Given the description of an element on the screen output the (x, y) to click on. 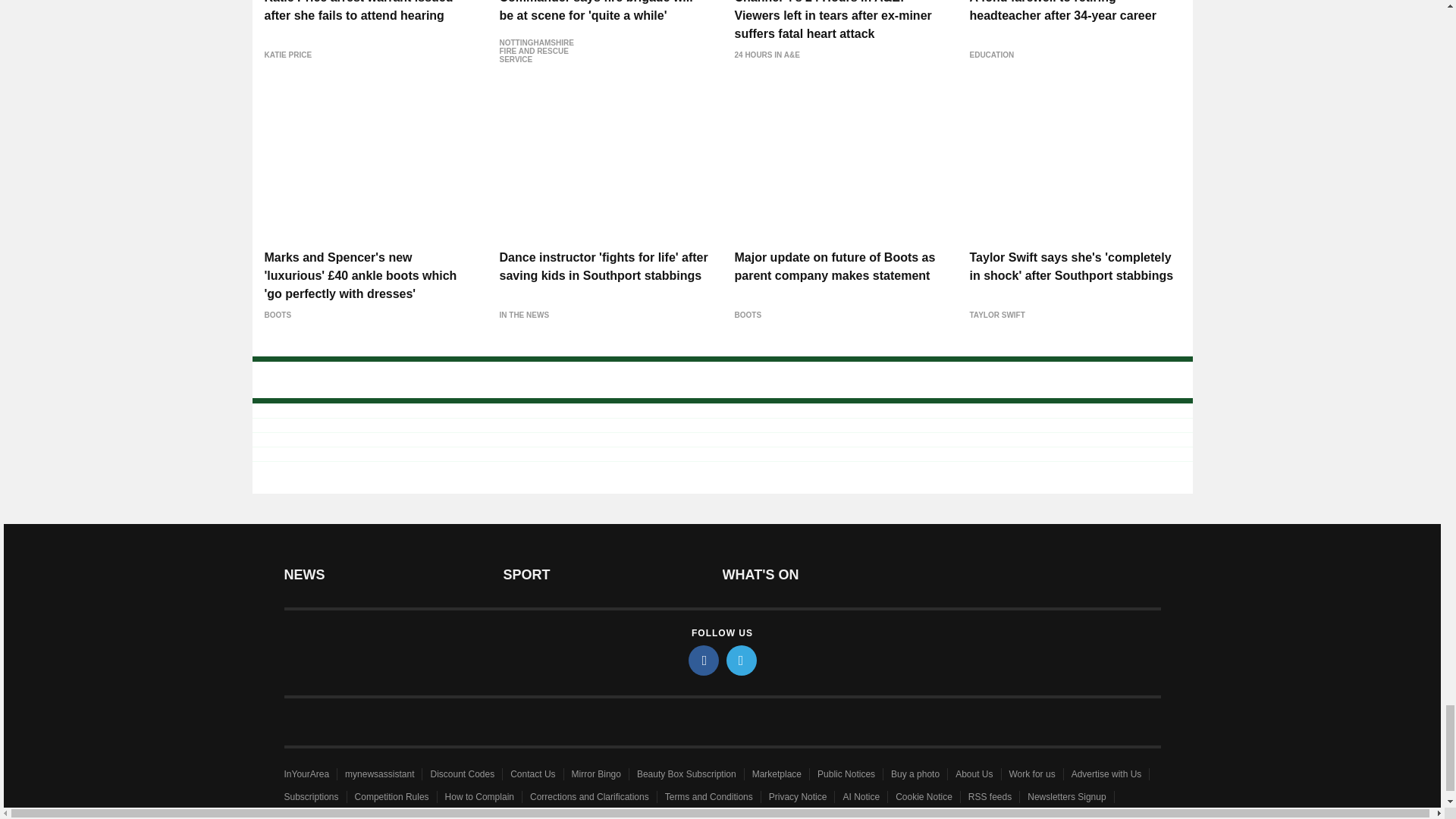
twitter (741, 660)
facebook (703, 660)
